Given the description of an element on the screen output the (x, y) to click on. 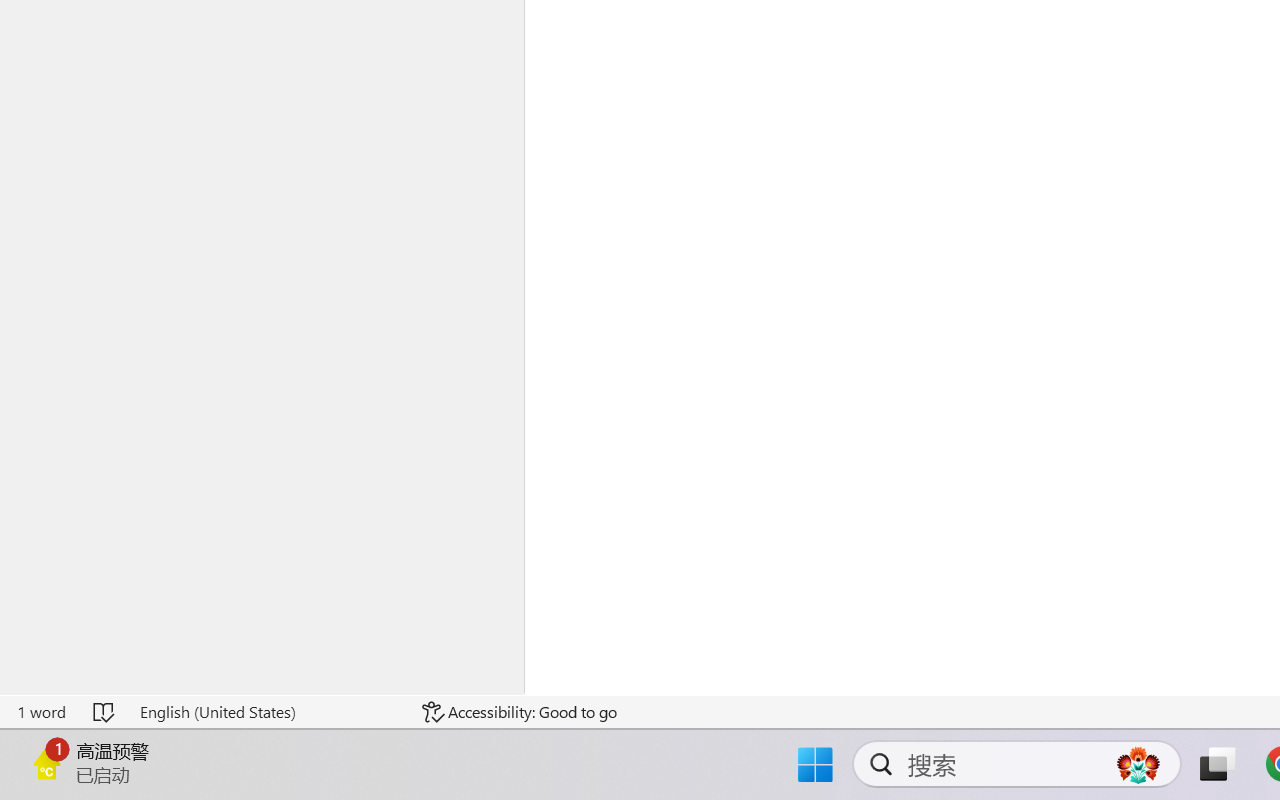
Spelling and Grammar Check No Errors (105, 712)
AutomationID: BadgeAnchorLargeTicker (46, 762)
Language English (United States) (267, 712)
Word Count 1 word (41, 712)
Accessibility Checker Accessibility: Good to go (519, 712)
